Given the description of an element on the screen output the (x, y) to click on. 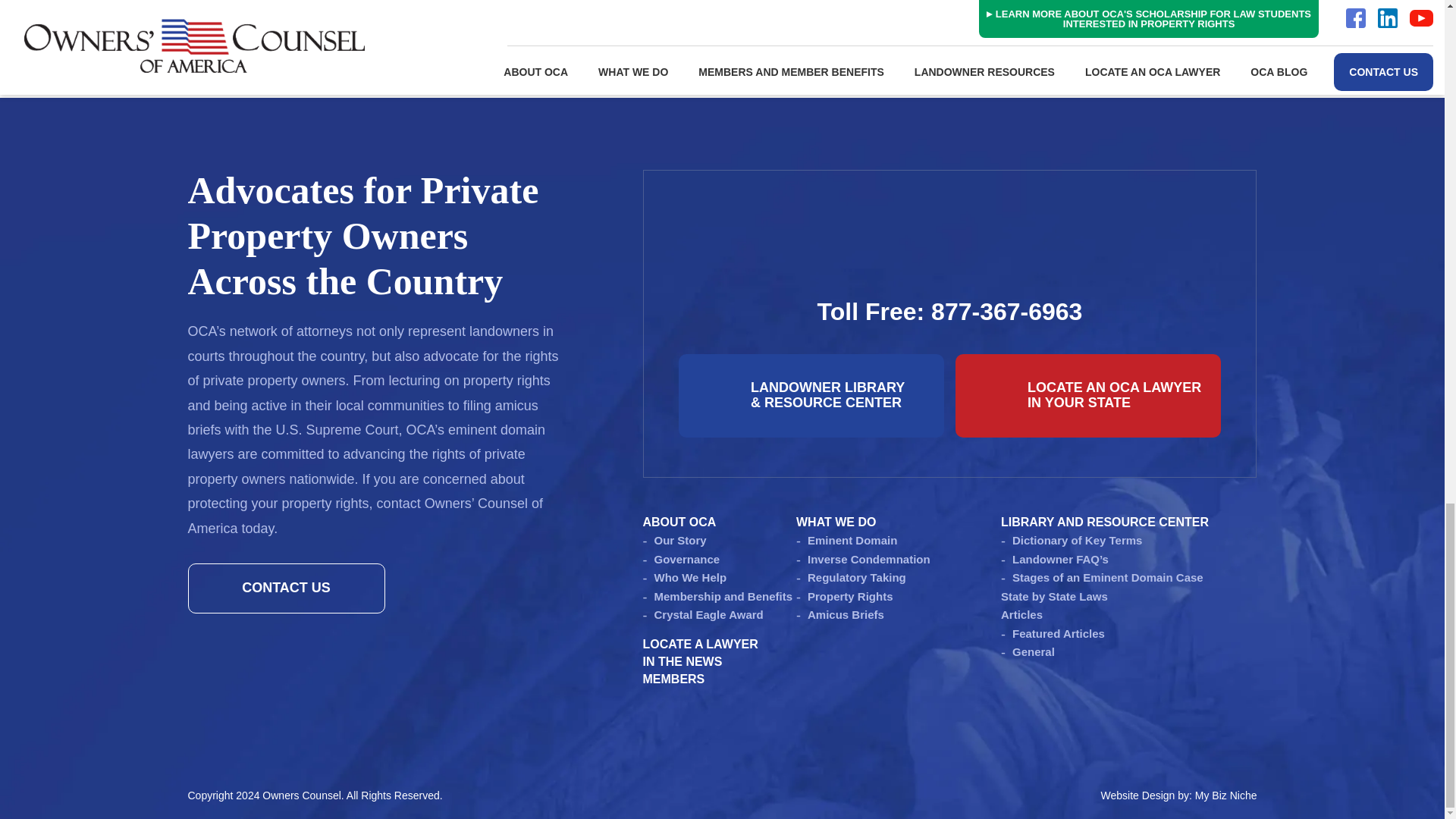
Share on X (526, 29)
Share on Facebook (298, 29)
Share on LinkedIn (755, 29)
